Given the description of an element on the screen output the (x, y) to click on. 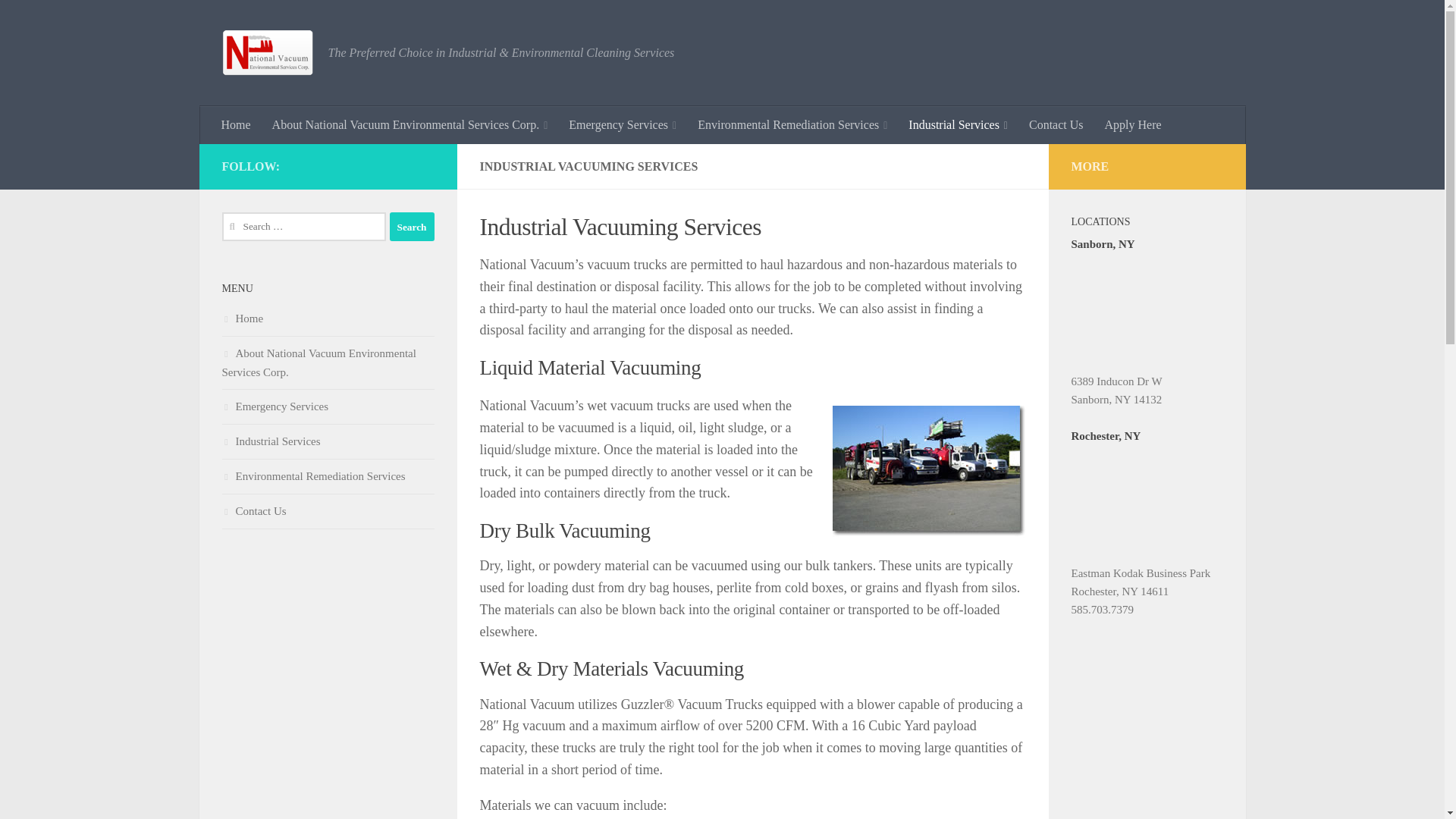
Skip to content (59, 20)
About National Vacuum Environmental Services Corp. (410, 125)
Search (411, 226)
Home (236, 125)
Emergency Services (622, 125)
Search (411, 226)
